Given the description of an element on the screen output the (x, y) to click on. 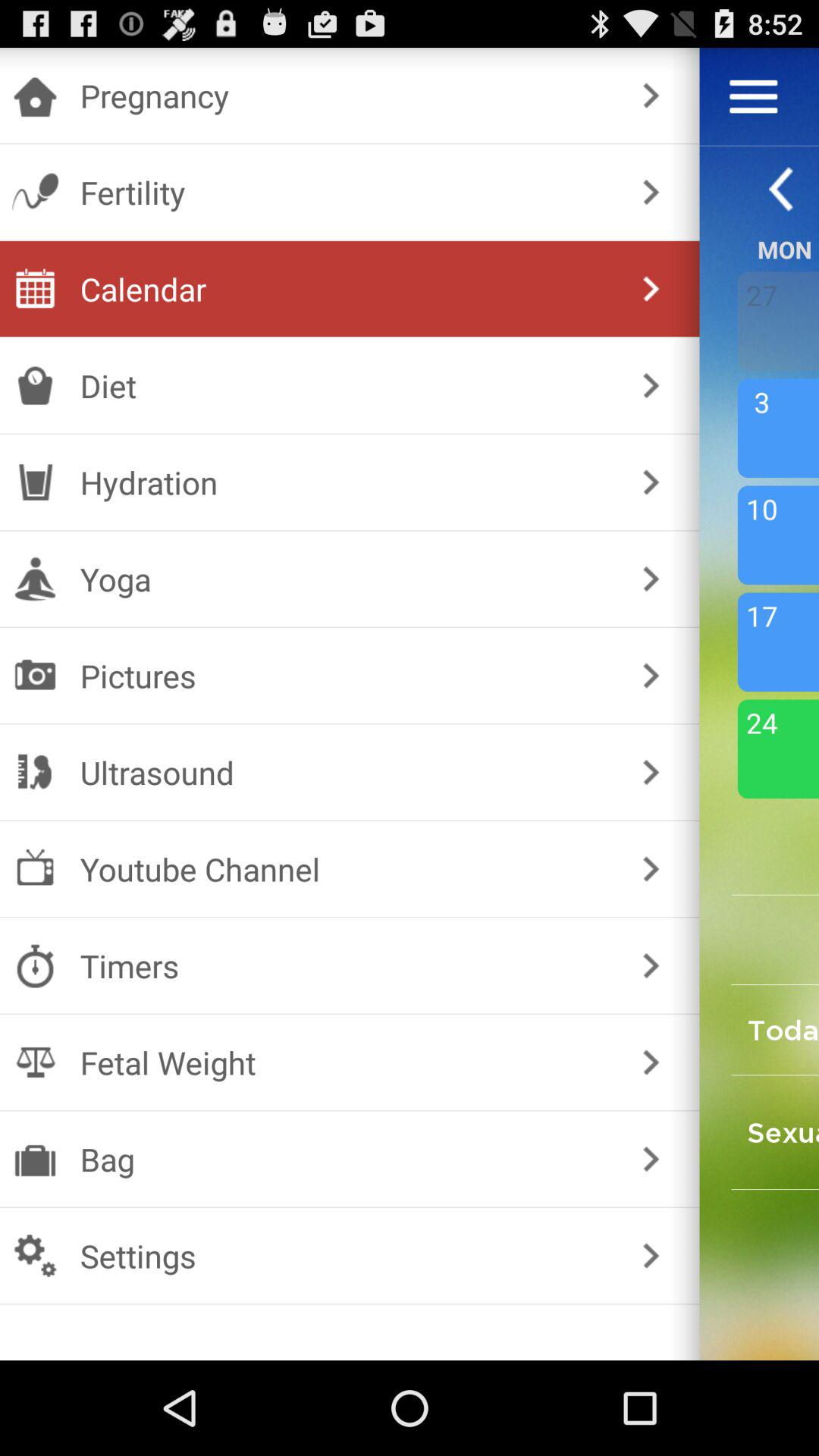
more options (753, 96)
